Given the description of an element on the screen output the (x, y) to click on. 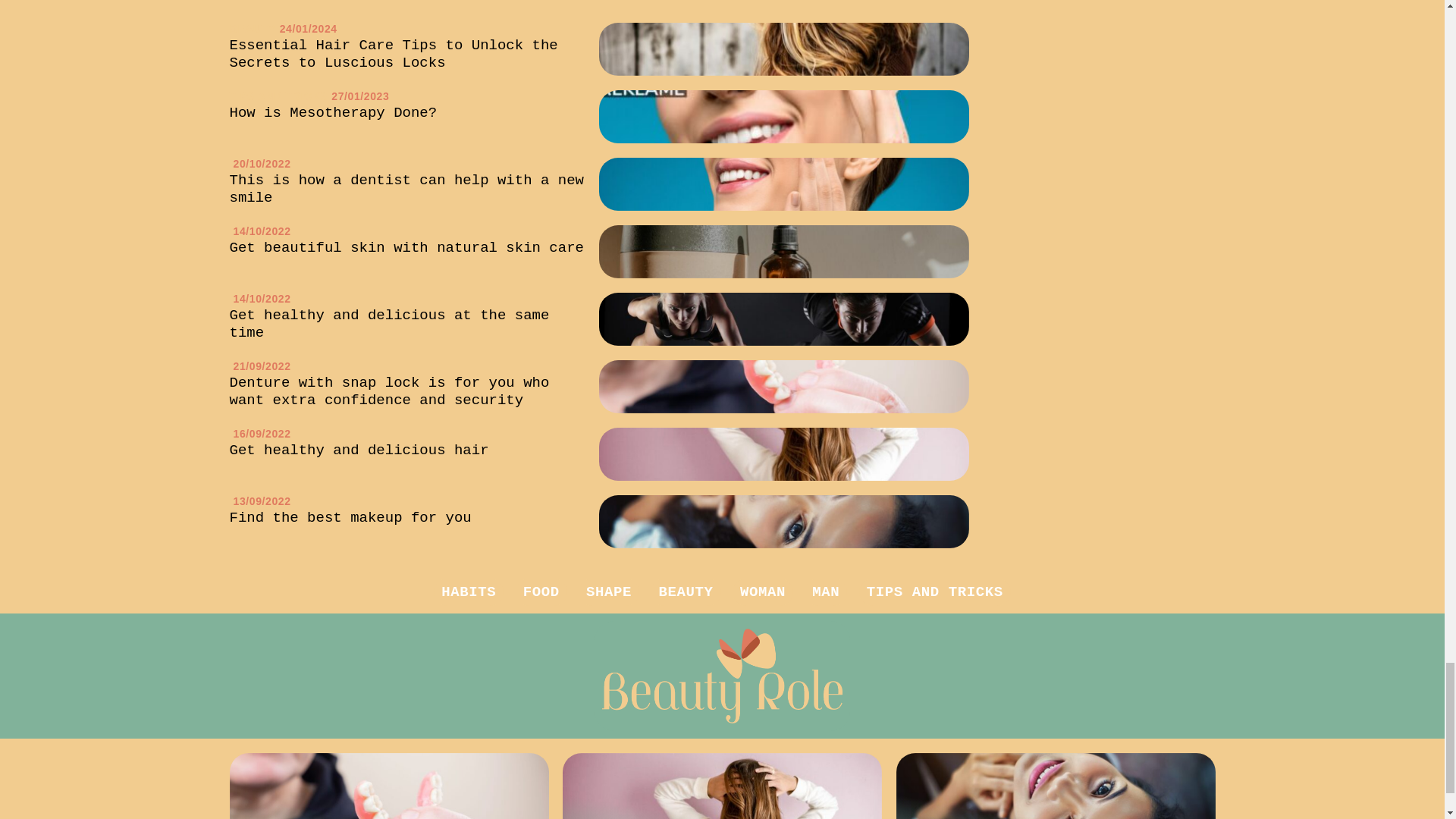
FOOD (540, 591)
SHAPE (608, 591)
WOMAN (762, 591)
TIPS AND TRICKS (934, 591)
MAN (826, 591)
BEAUTY (685, 591)
HABITS (468, 591)
